Given the description of an element on the screen output the (x, y) to click on. 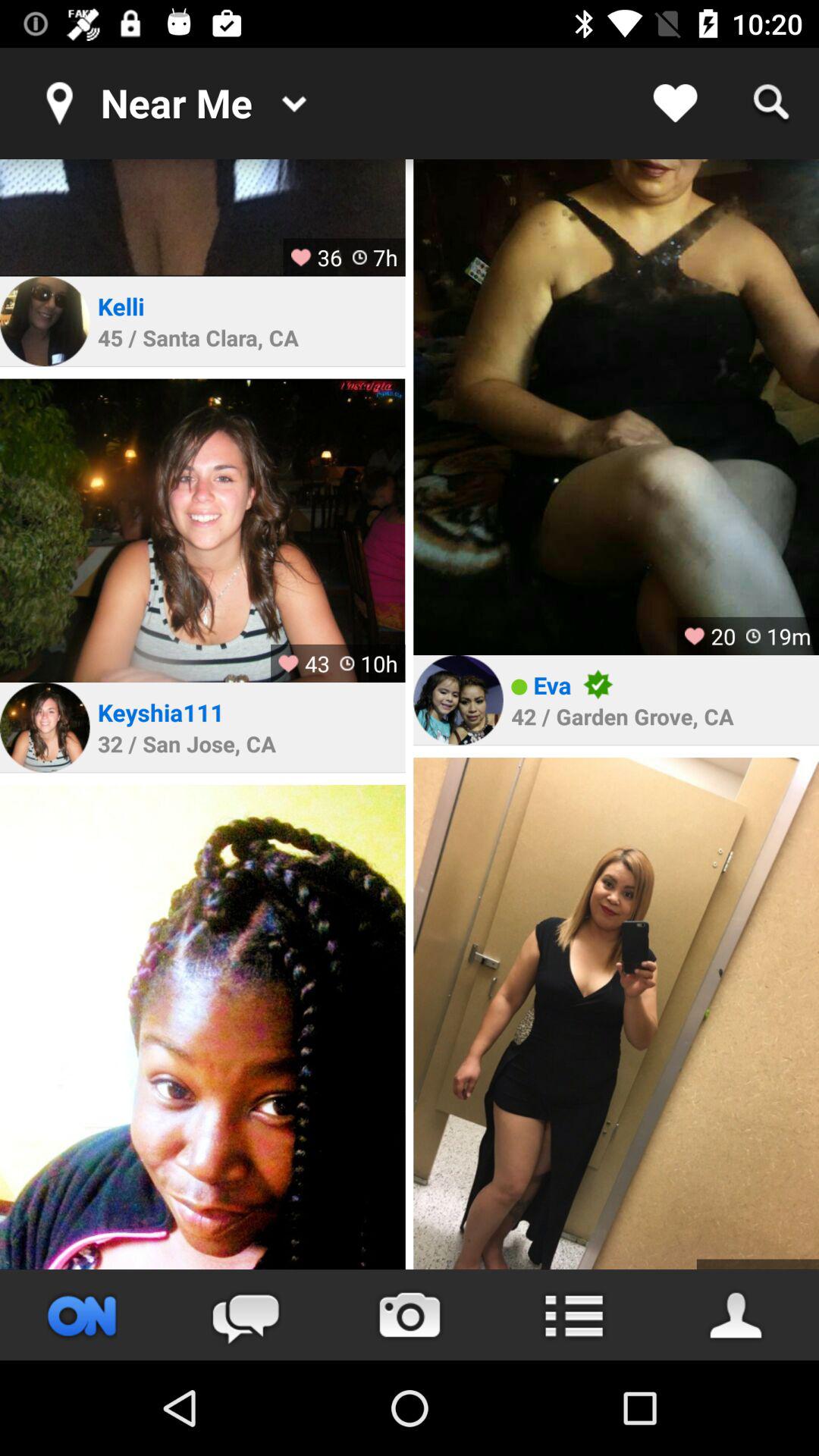
profile picture (44, 727)
